Given the description of an element on the screen output the (x, y) to click on. 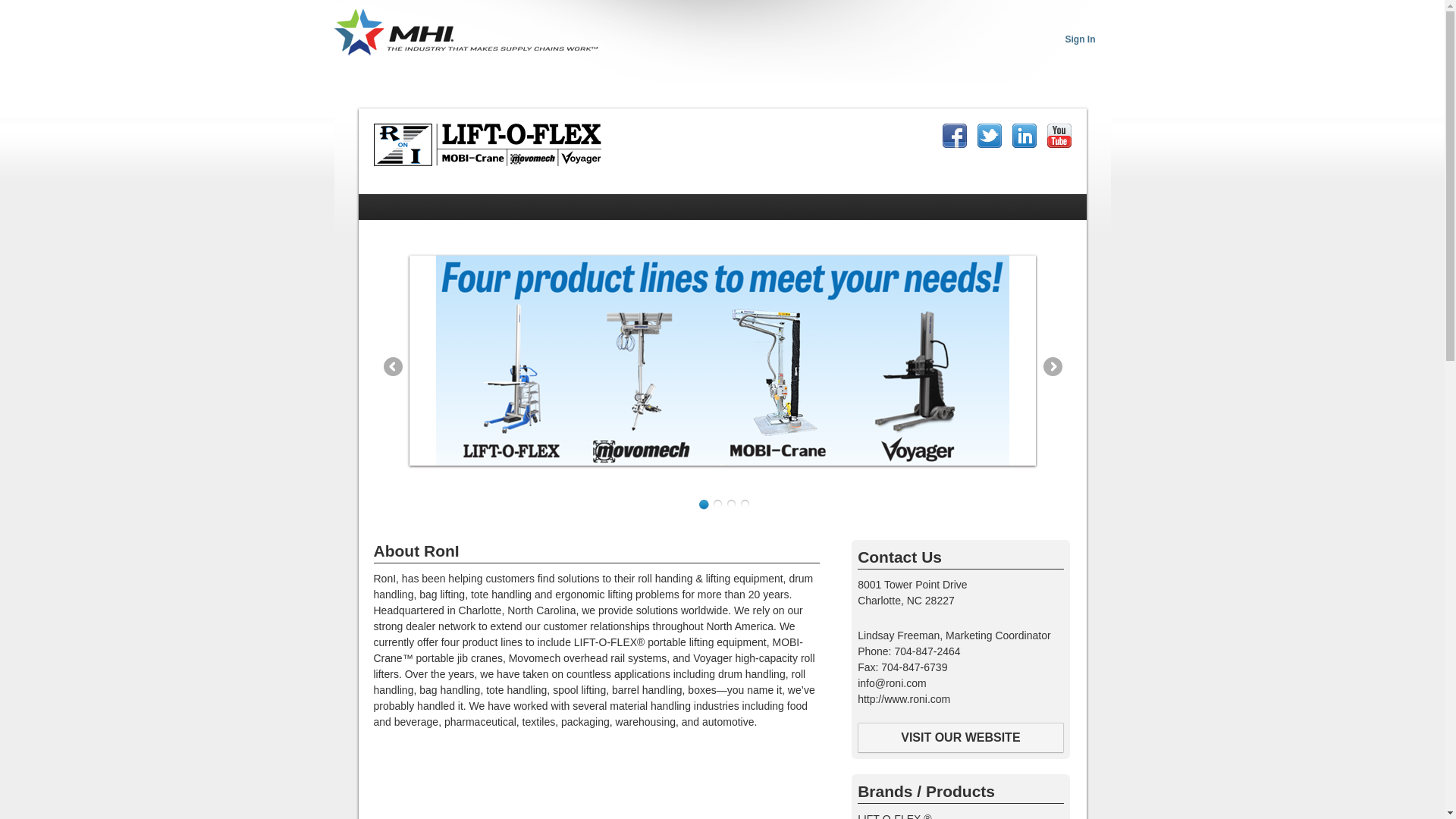
Next (1051, 365)
Twitter (988, 135)
Sign In (1079, 39)
1 (703, 504)
LinkedIn (1023, 135)
Join the RonI group on LinkedIn (1023, 135)
Like RonI on Facebook (954, 135)
Facebook (954, 135)
4 (744, 504)
VISIT OUR WEBSITE (960, 737)
